Given the description of an element on the screen output the (x, y) to click on. 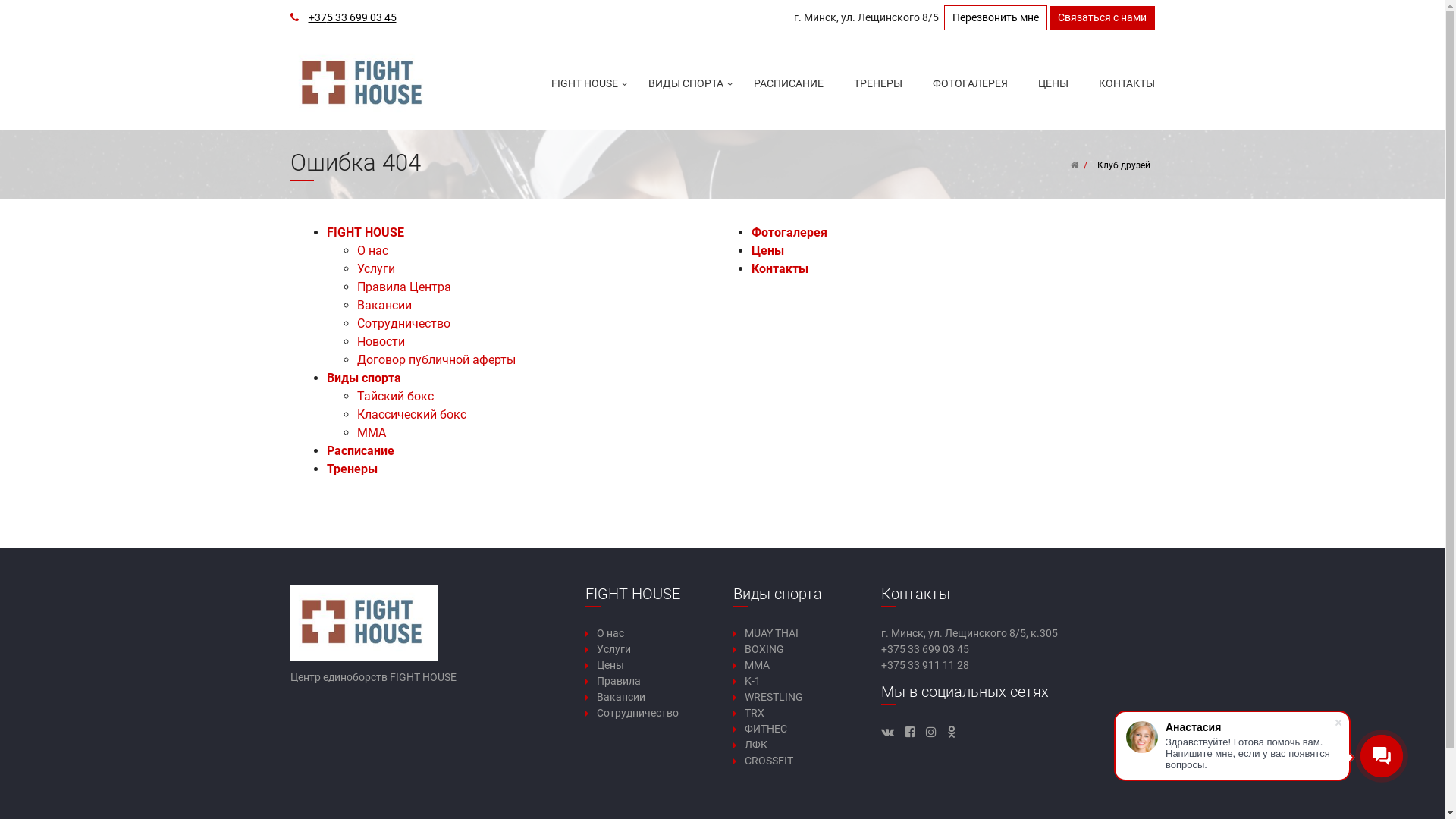
logo FightHouse_bold_fin2019_wf.jpg Element type: hover (363, 622)
CROSSFIT Element type: text (768, 760)
+375 33 911 11 28 Element type: text (925, 664)
TRX Element type: text (754, 712)
K-1 Element type: text (752, 680)
MMA Element type: text (756, 664)
MMA Element type: text (370, 432)
logo FightHouse_bold_fin2019_wf.jpg Element type: hover (363, 83)
WRESTLING Element type: text (773, 696)
FIGHT HOUSE Element type: text (583, 83)
+37 Element type: text (316, 17)
BOXING Element type: text (764, 649)
MUAY THAI Element type: text (771, 633)
+375 33 699 03 45 Element type: text (925, 649)
FIGHT HOUSE Element type: text (364, 232)
